Given the description of an element on the screen output the (x, y) to click on. 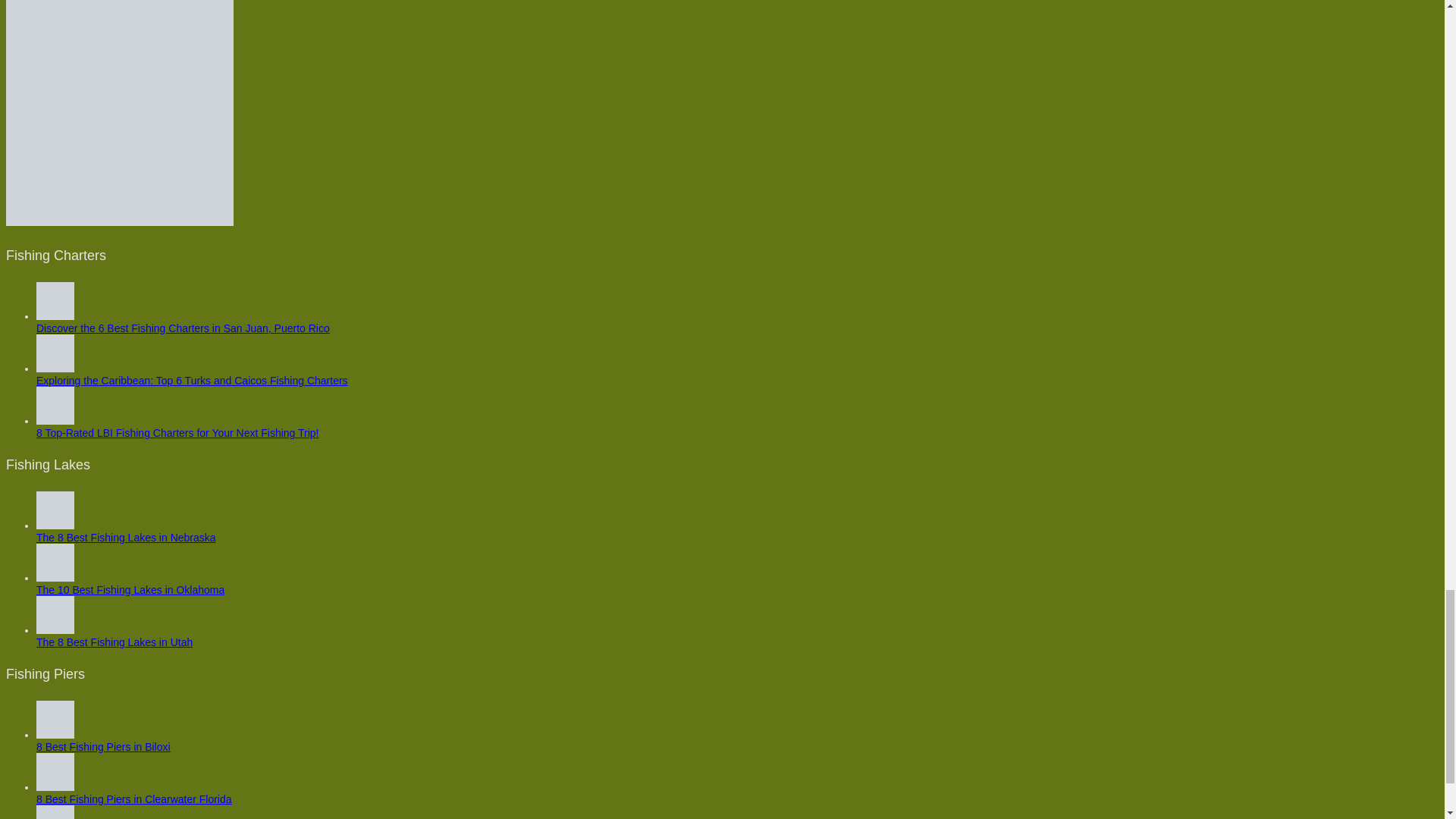
Fishing Charters in US Banner (118, 113)
